Given the description of an element on the screen output the (x, y) to click on. 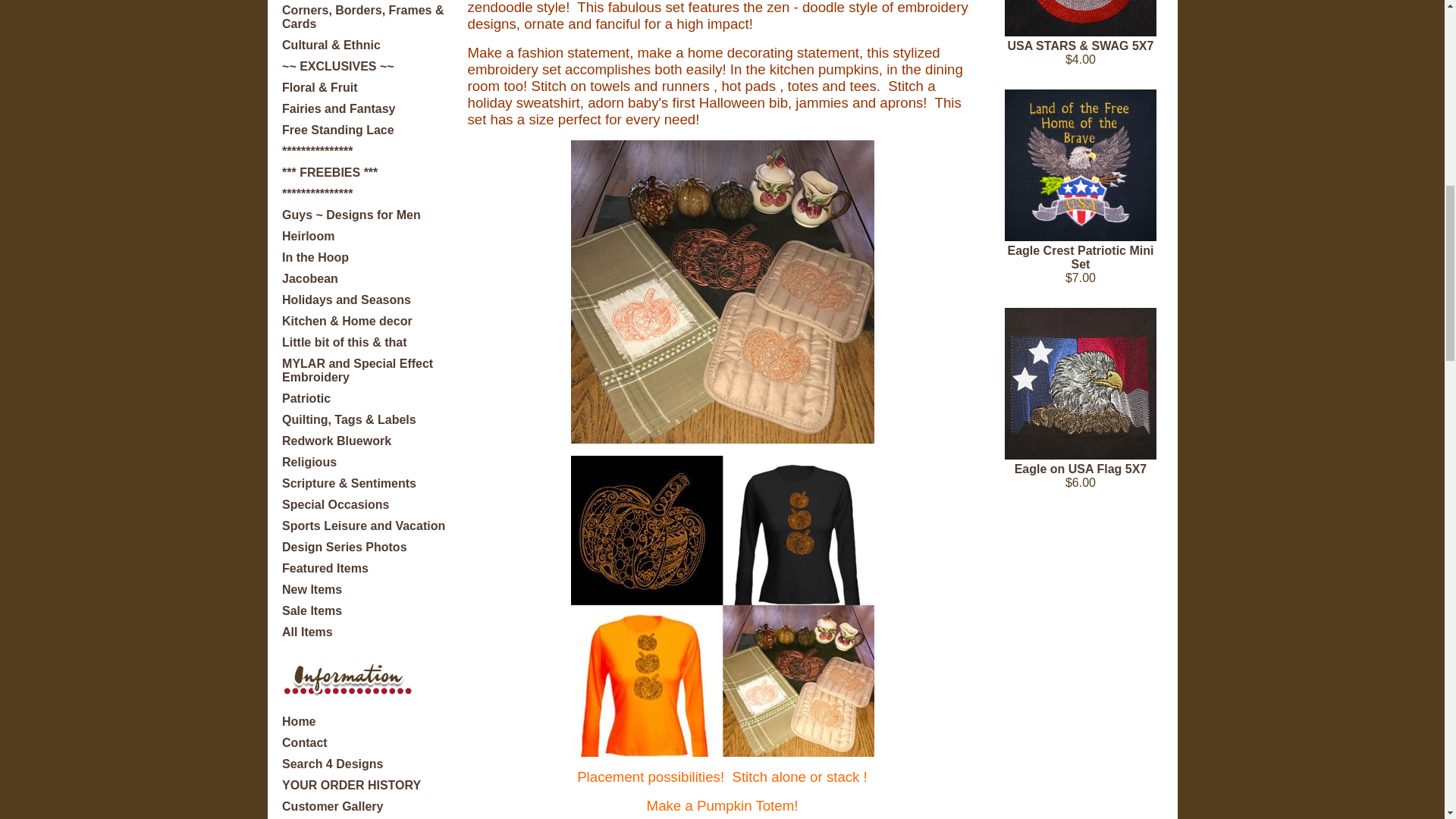
Eagle on USA Flag 5X7 (1080, 383)
Free Standing Lace (338, 130)
Eagle Crest Patriotic Mini Set (1080, 164)
Fairies and Fantasy (338, 109)
